Given the description of an element on the screen output the (x, y) to click on. 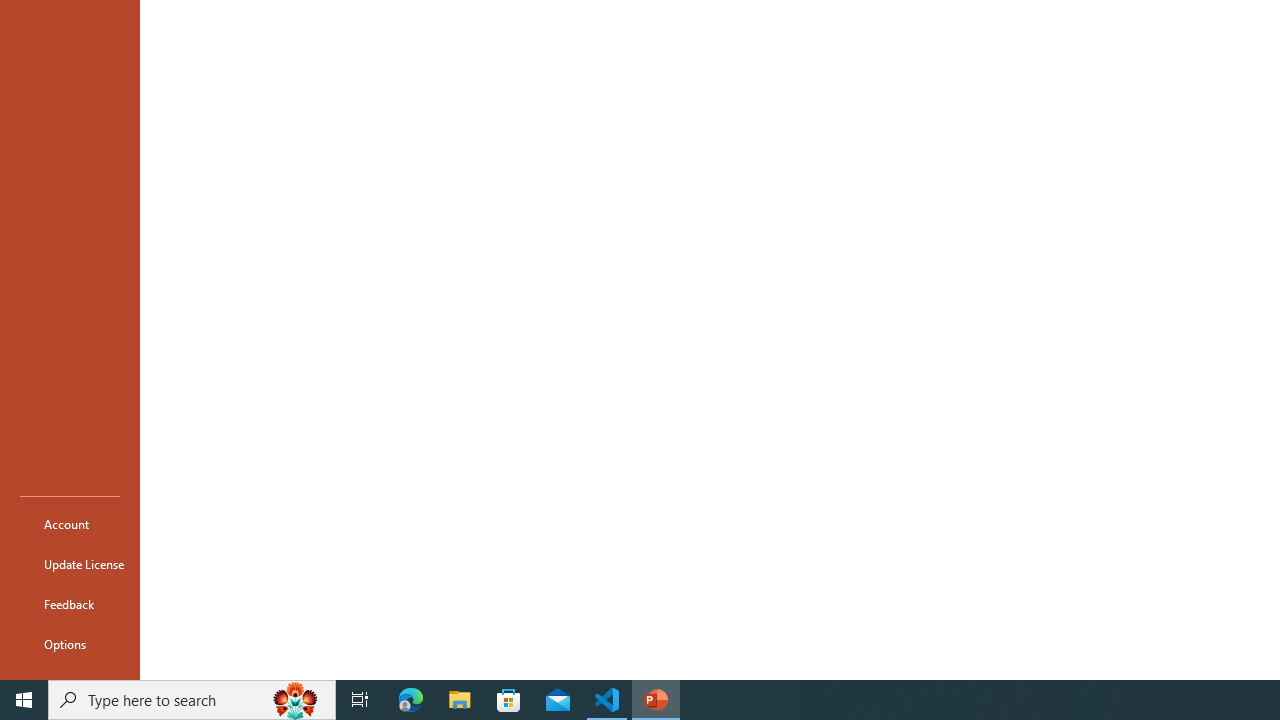
Update License (69, 563)
Feedback (69, 603)
Account (69, 523)
Options (69, 643)
